Given the description of an element on the screen output the (x, y) to click on. 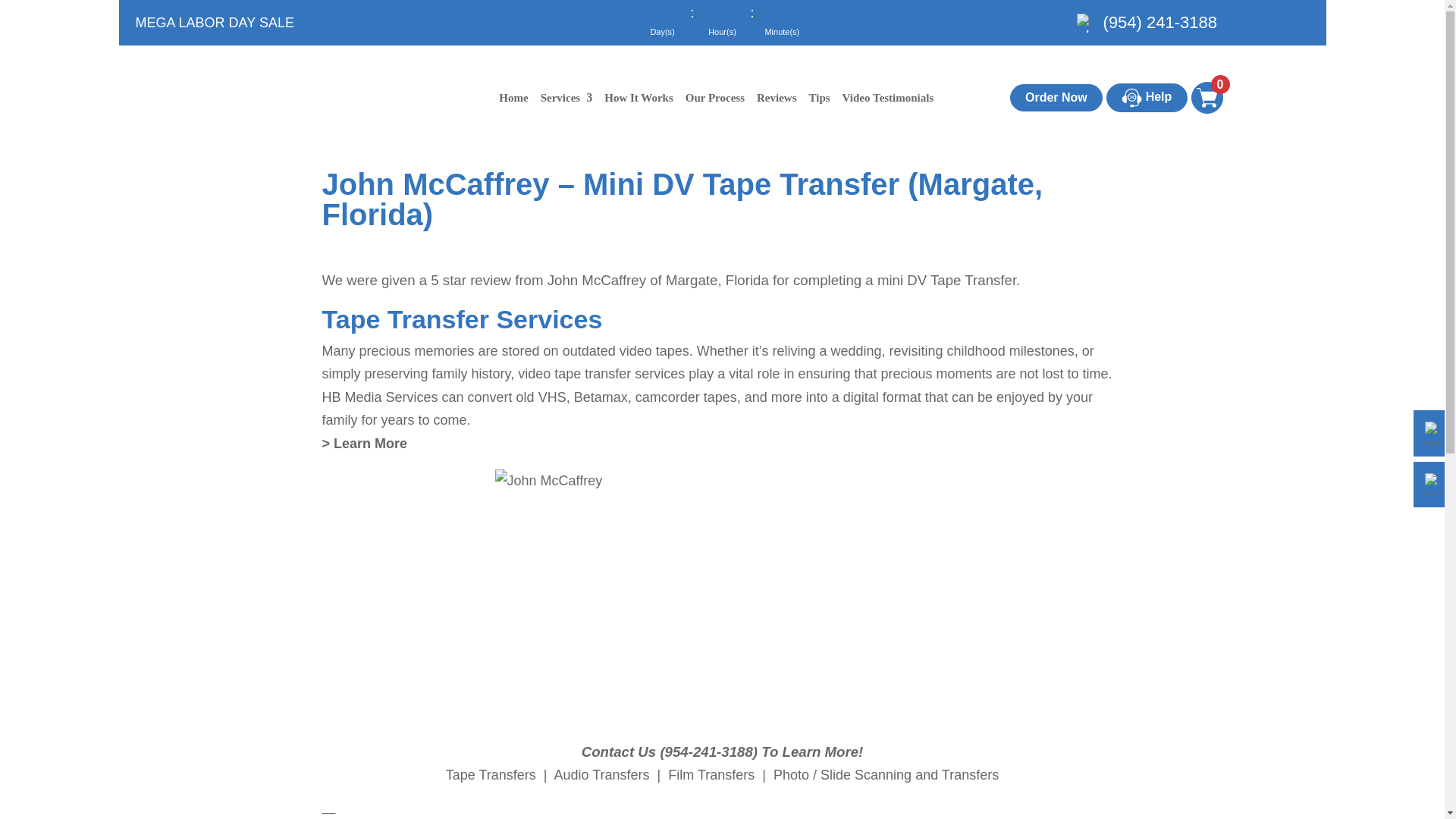
Tips (818, 97)
Film Transfers (711, 774)
Help (1147, 97)
Contact Us (618, 751)
Video Testimonials (887, 97)
Reviews (777, 97)
Services (566, 97)
Our Process (715, 97)
Tape Transfers (490, 774)
Home (513, 97)
